Given the description of an element on the screen output the (x, y) to click on. 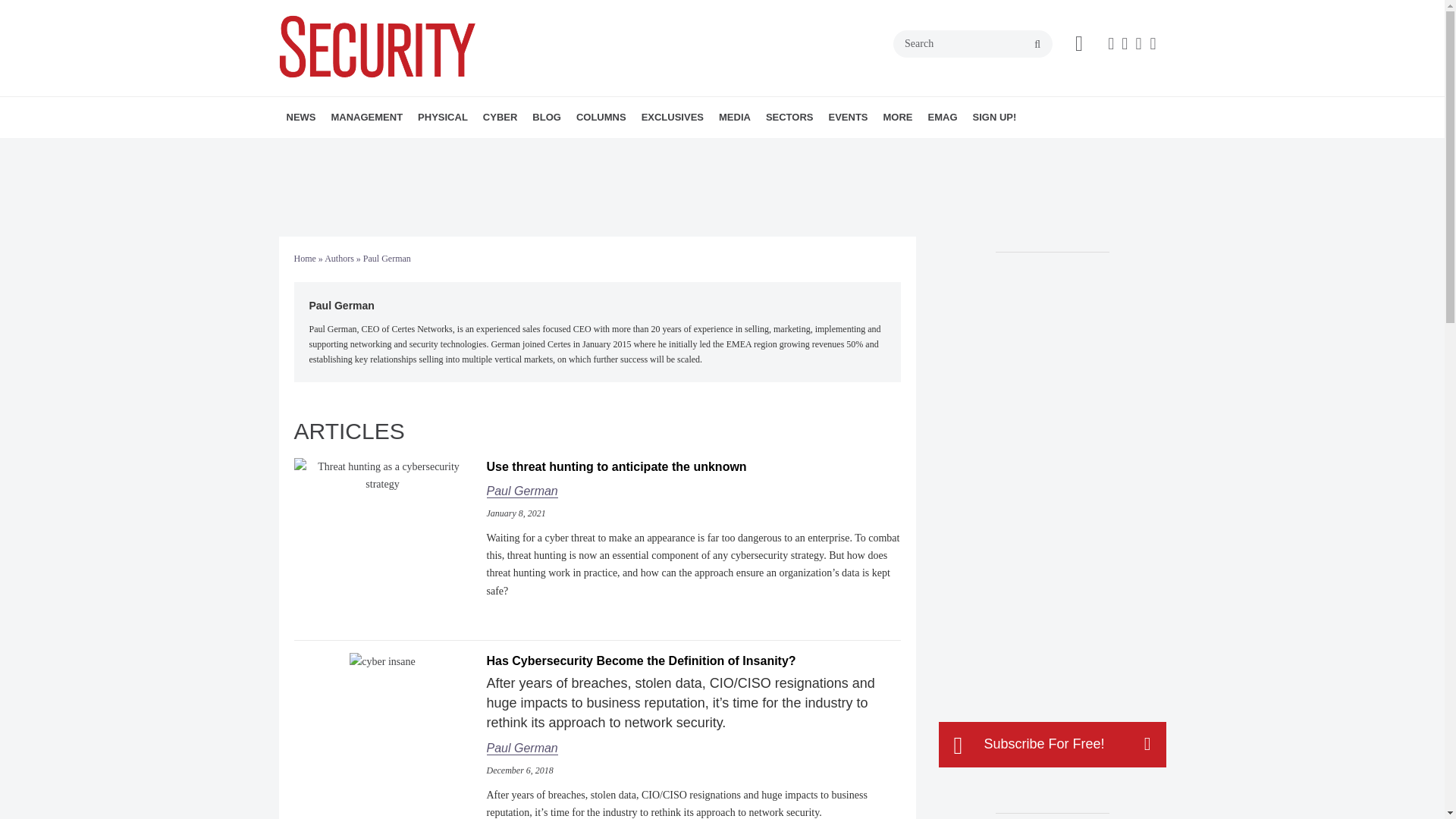
search (1037, 44)
PHYSICAL (443, 117)
Search (972, 43)
NEWS (301, 117)
MORE (576, 150)
cyber insane (381, 661)
EXCLUSIVES (672, 117)
CAREER INTELLIGENCE (682, 150)
BLOG (546, 117)
MANAGEMENT (366, 117)
